Given the description of an element on the screen output the (x, y) to click on. 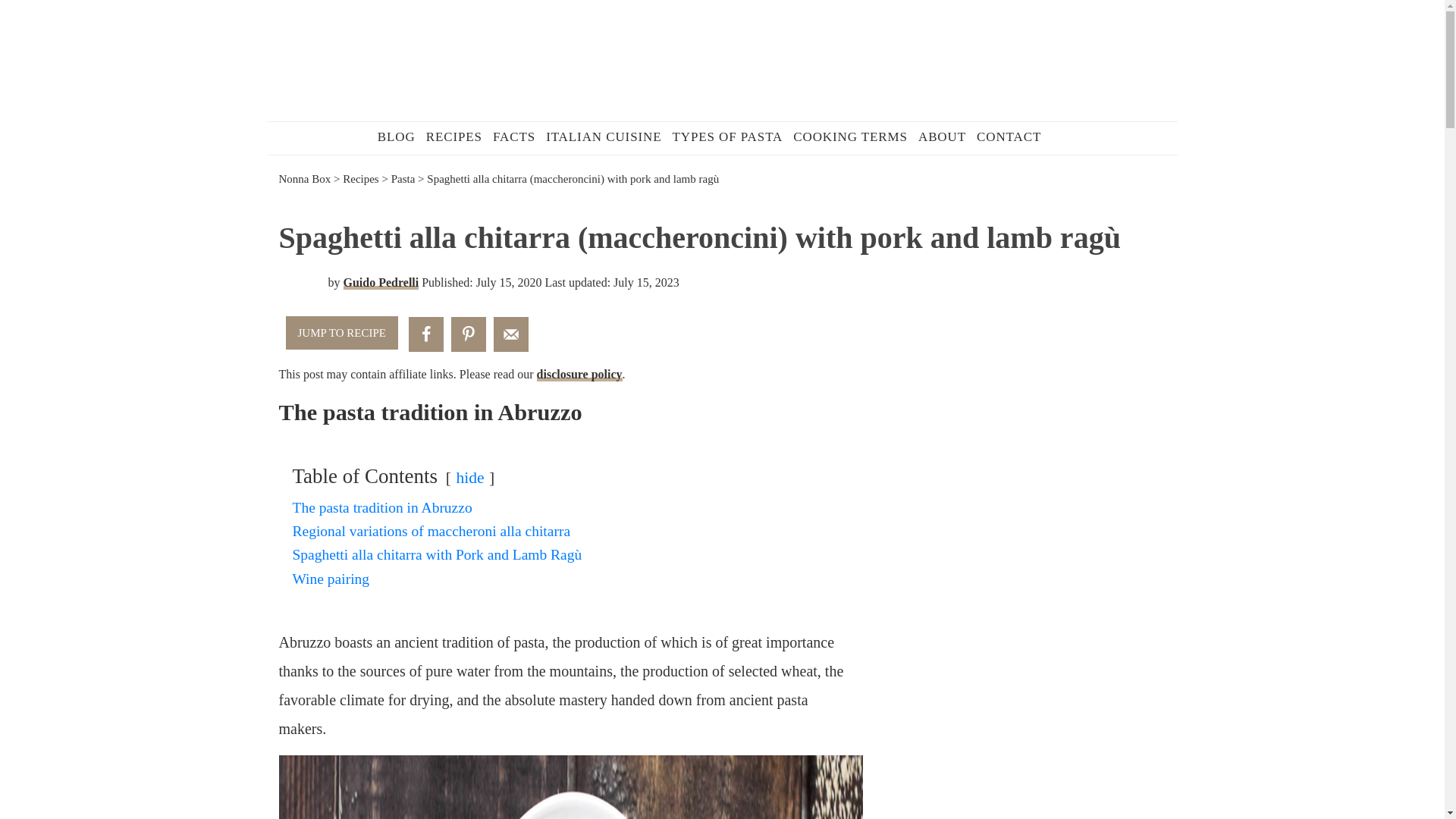
Share on Facebook (426, 334)
Guido Pedrelli (380, 282)
Nonna Box (305, 178)
COOKING TERMS (849, 137)
TYPES OF PASTA (727, 137)
Recipes (360, 178)
BLOG (396, 137)
Save to Pinterest (468, 334)
Send over email (510, 334)
RECIPES (453, 137)
ABOUT (941, 137)
ITALIAN CUISINE (603, 137)
FACTS (513, 137)
Pasta (402, 178)
